Given the description of an element on the screen output the (x, y) to click on. 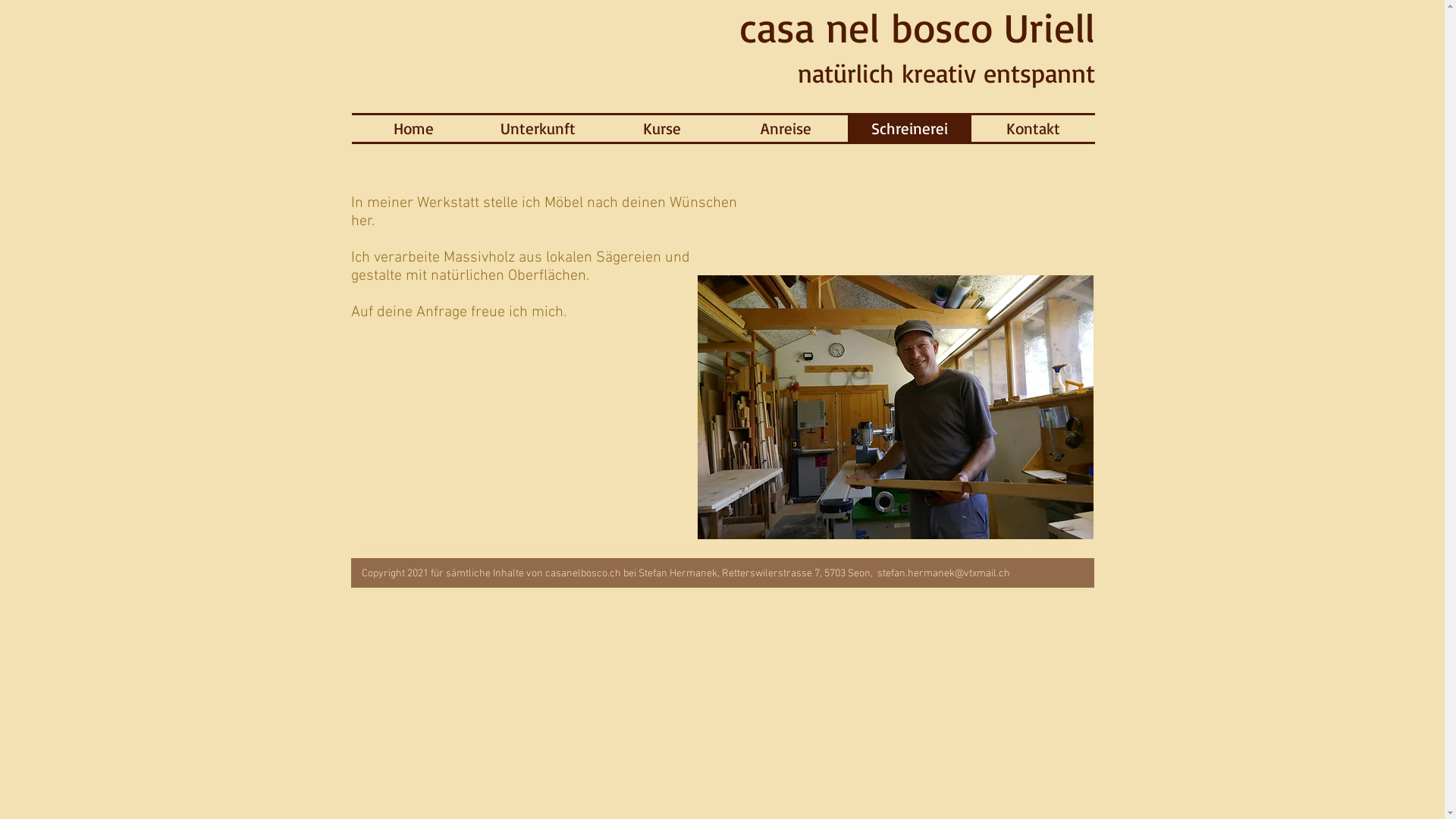
casa nel bosco Uriell Element type: text (916, 26)
Anreise Element type: text (785, 128)
Unterkunft Element type: text (538, 128)
Kontakt Element type: text (1032, 128)
P1040486.JPG Element type: hover (895, 407)
Kurse Element type: text (662, 128)
Schreinerei Element type: text (909, 128)
info@hermanek-holz.ch Element type: text (1011, 551)
stefan.hermanek@vtxmail.ch Element type: text (942, 573)
Home Element type: text (413, 128)
